Given the description of an element on the screen output the (x, y) to click on. 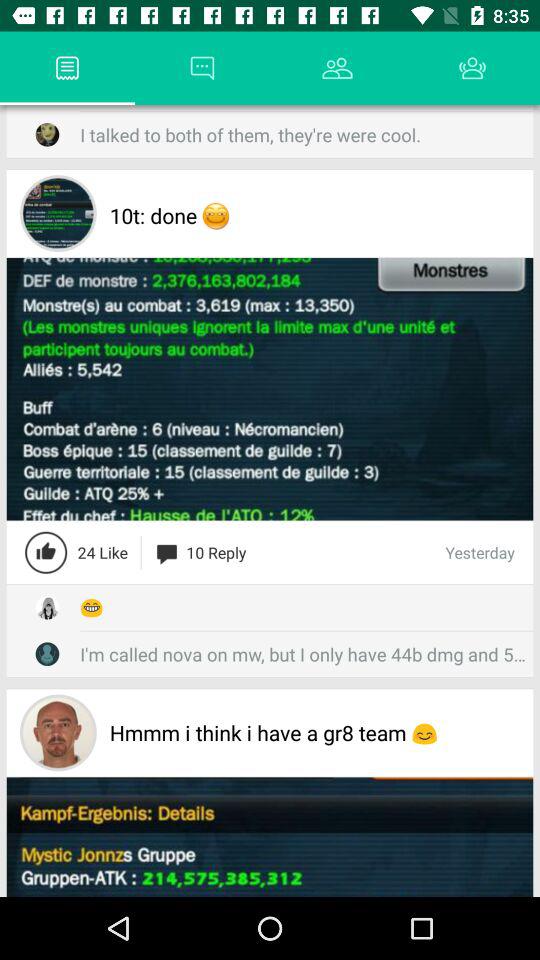
click on the news feed icon (67, 67)
select the image left 10tdone (58, 212)
select the first image below 10t done (269, 389)
move to the first icon mentioned below 24 likes (47, 608)
